Given the description of an element on the screen output the (x, y) to click on. 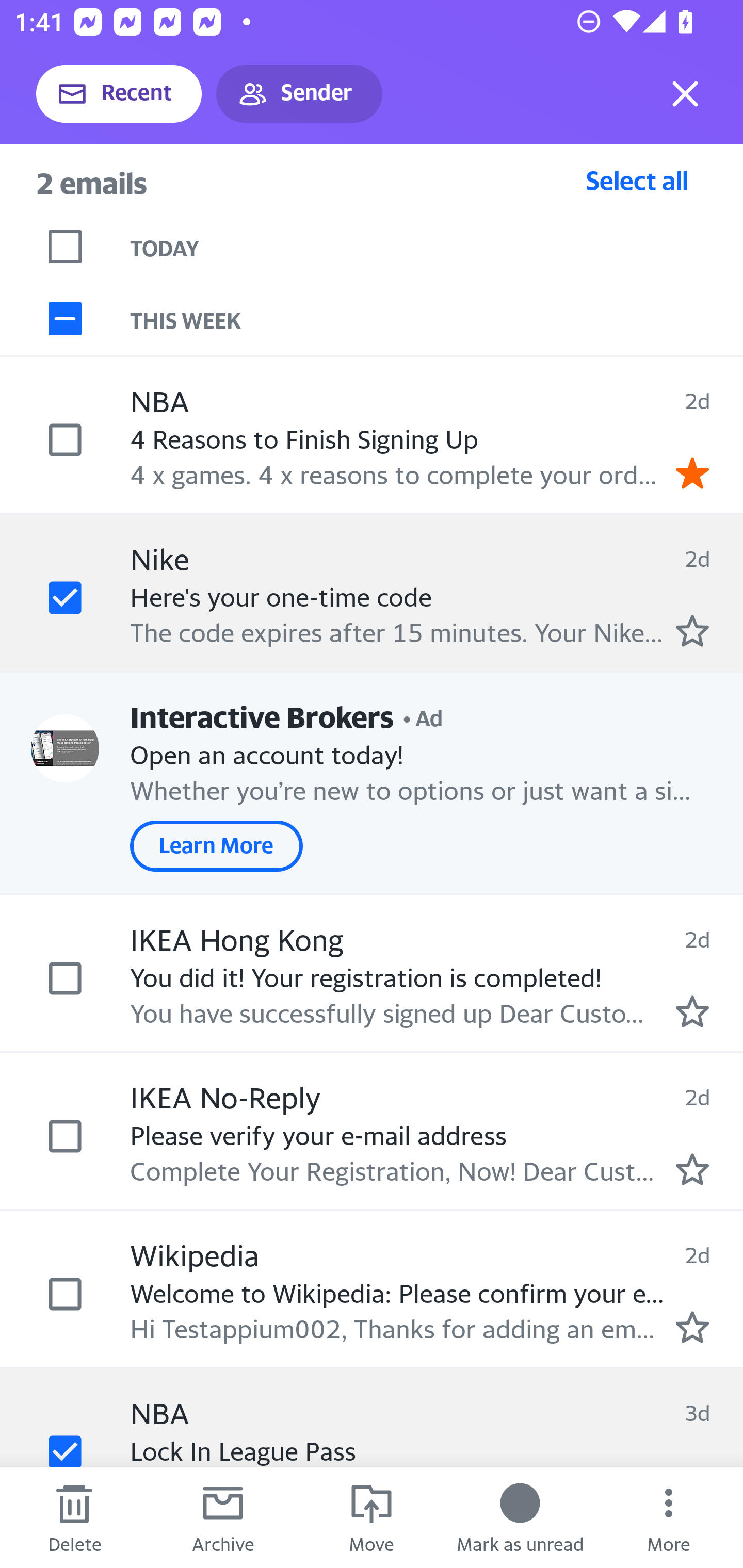
Sender (299, 93)
Exit selection mode (684, 93)
Select all (637, 180)
THIS WEEK (436, 318)
Remove star. (692, 472)
Mark as starred. (692, 631)
Mark as starred. (692, 1012)
Mark as starred. (692, 1168)
Mark as starred. (692, 1327)
Delete (74, 1517)
Archive (222, 1517)
Move (371, 1517)
Mark as unread (519, 1517)
More (668, 1517)
